Given the description of an element on the screen output the (x, y) to click on. 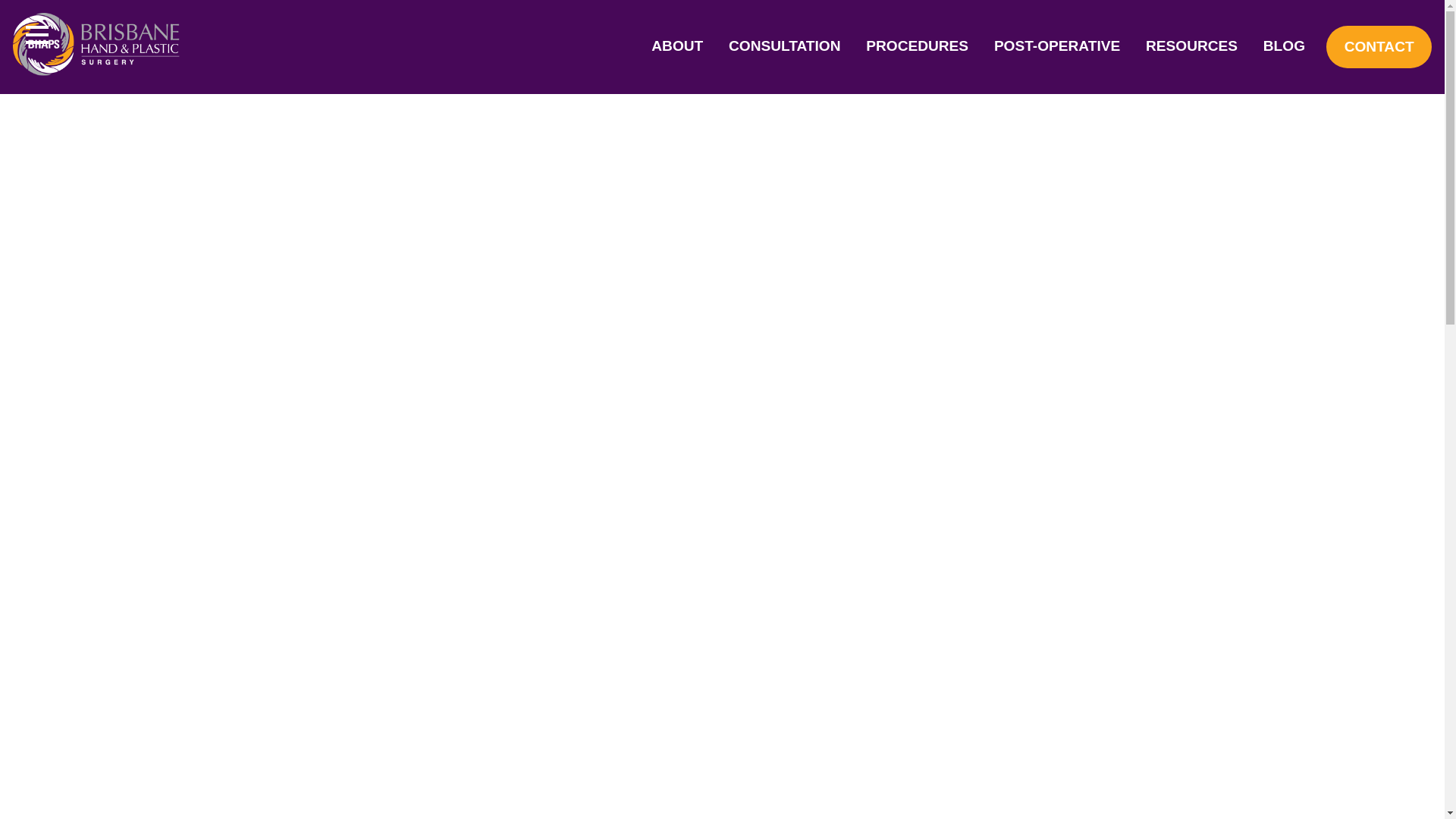
CONTACT Element type: text (1379, 46)
RESOURCES Element type: text (1191, 46)
Brisbane Hand and Plastic Surgery (BHAPS) Element type: text (95, 46)
POST-OPERATIVE Element type: text (1057, 46)
CONSULTATION Element type: text (784, 46)
ABOUT Element type: text (676, 46)
BLOG Element type: text (1284, 46)
PROCEDURES Element type: text (917, 46)
